Given the description of an element on the screen output the (x, y) to click on. 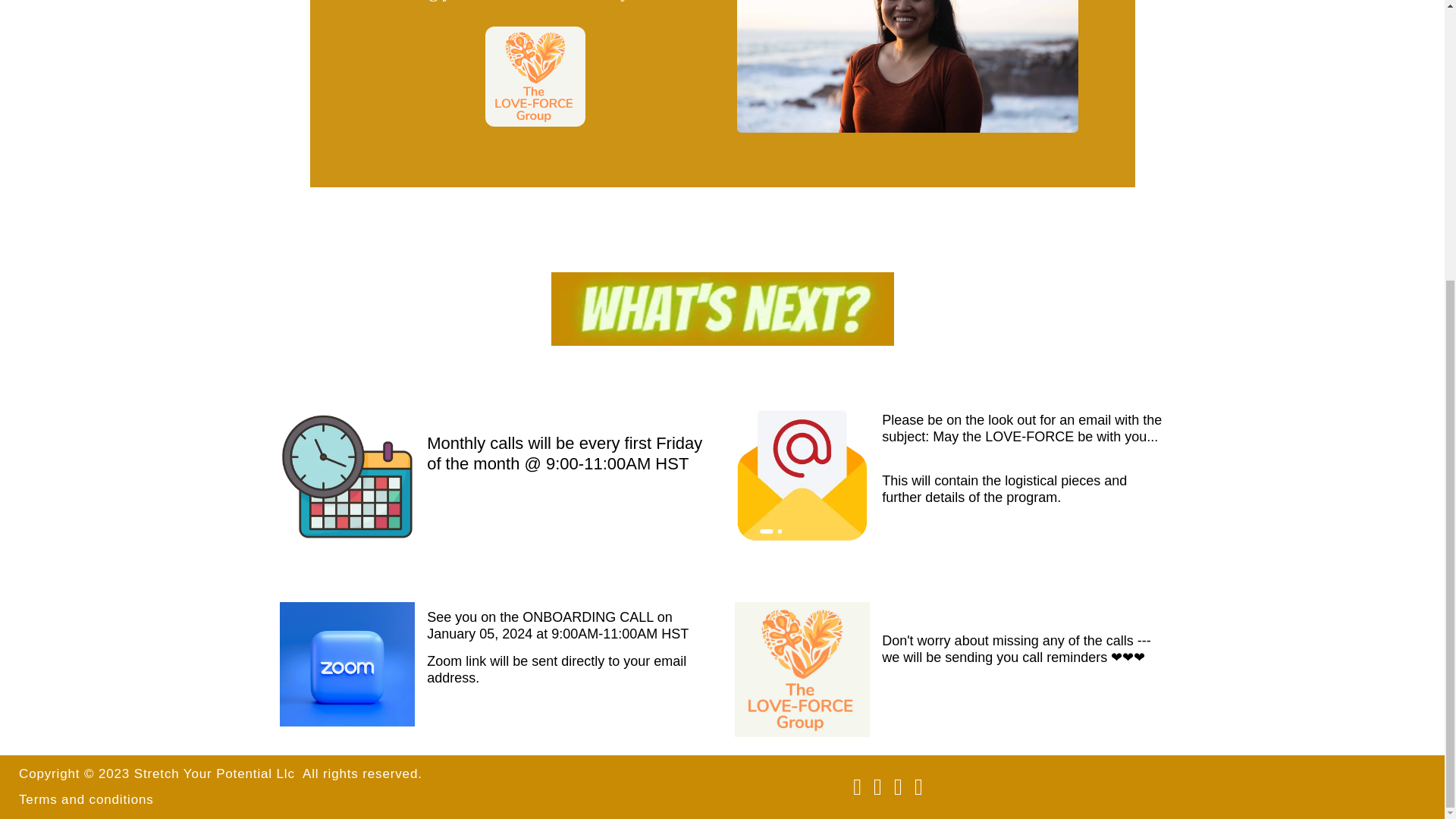
Terms and conditions (86, 799)
